Given the description of an element on the screen output the (x, y) to click on. 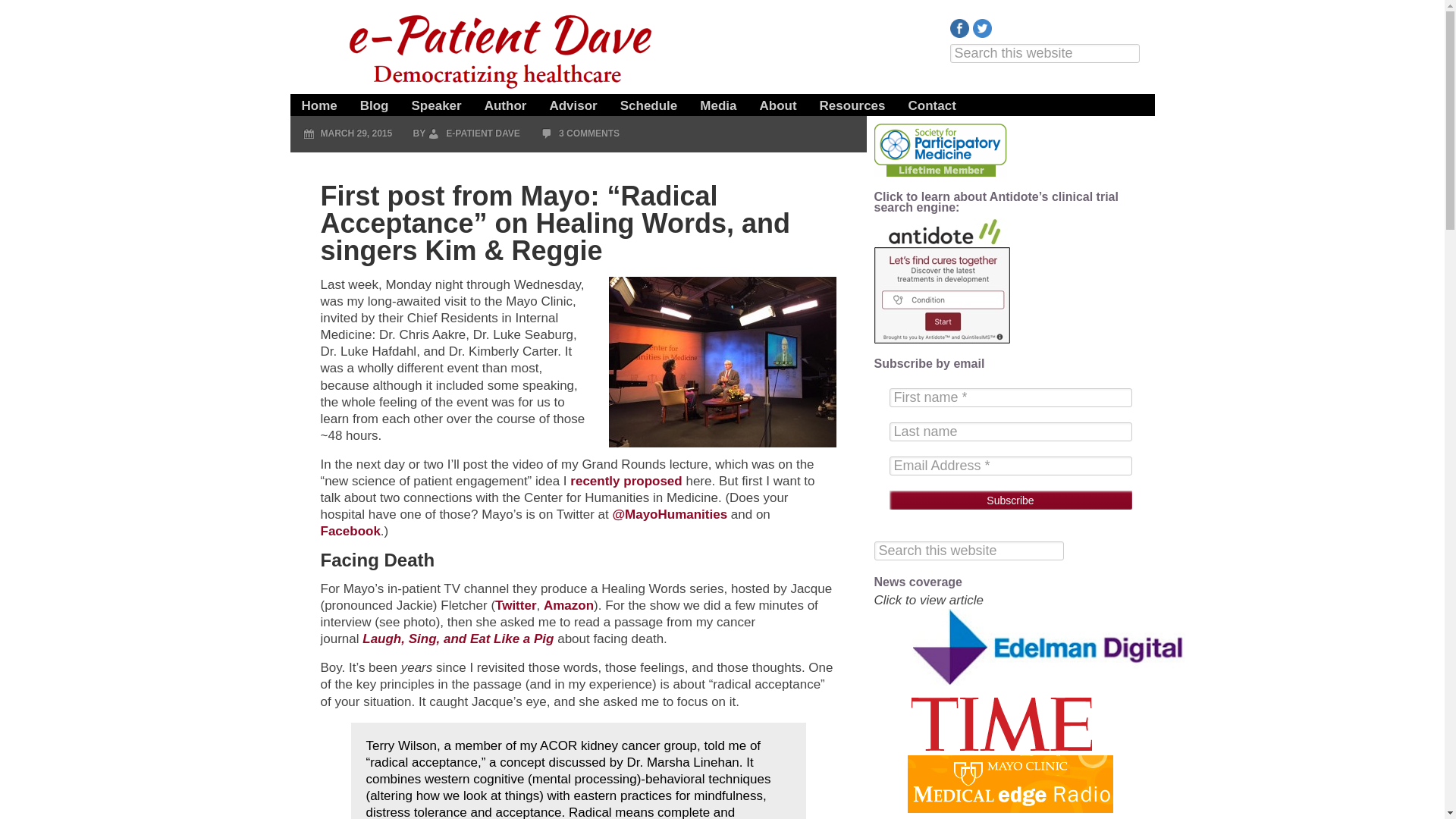
Media (718, 98)
recently proposed (625, 481)
Amazon (568, 605)
Resources (852, 98)
About (778, 98)
e-Patient Dave (501, 49)
Schedule (648, 98)
3 COMMENTS (589, 132)
Blog (374, 98)
Laugh, Sing, and Eat Like a Pig (457, 638)
Home (318, 98)
Contact (932, 98)
Author (505, 98)
